Given the description of an element on the screen output the (x, y) to click on. 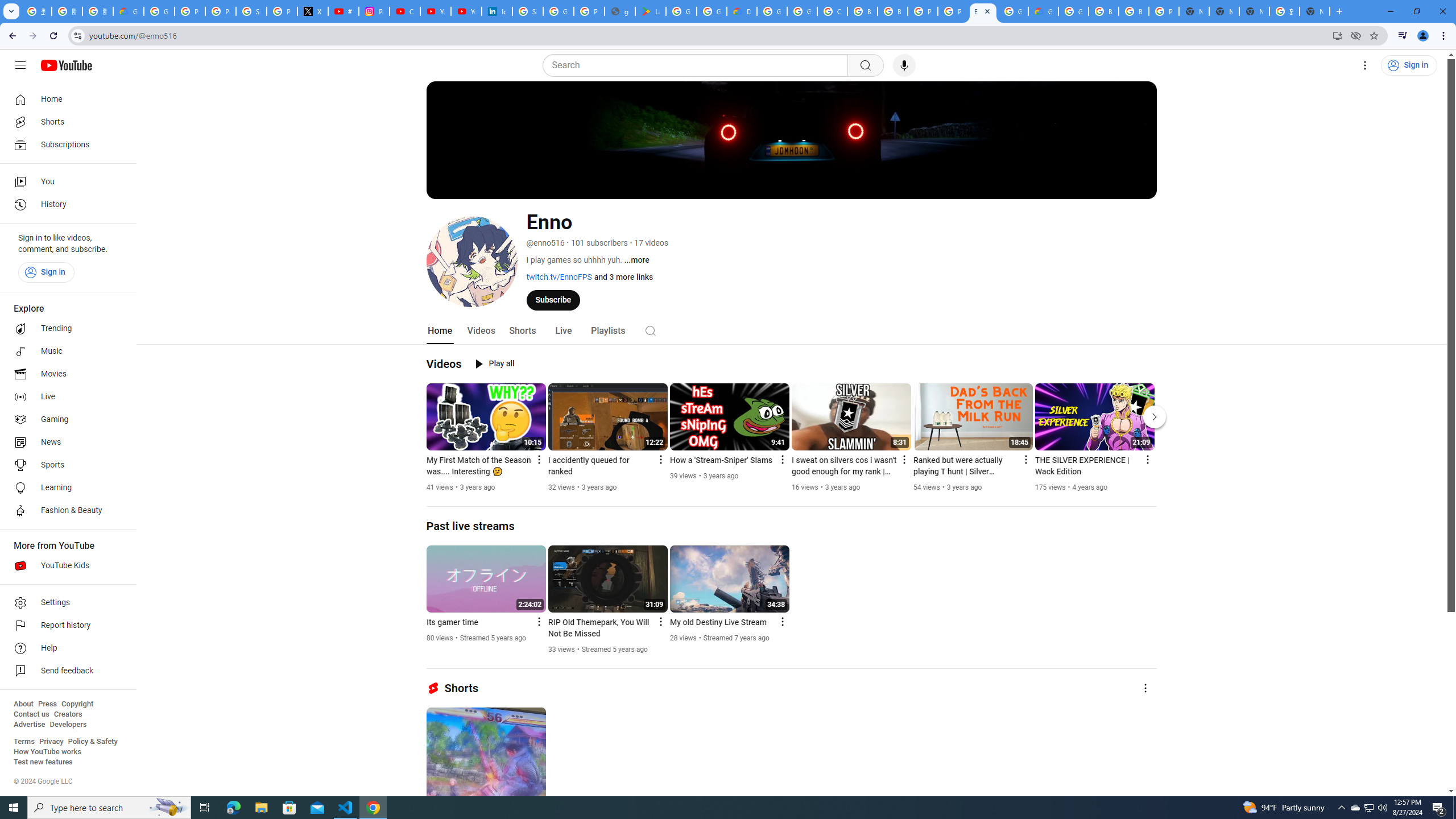
Past live streams (470, 525)
Report history (64, 625)
Sign in - Google Accounts (251, 11)
Next (1154, 416)
Google Cloud Platform (771, 11)
Home (64, 99)
YouTube Kids (64, 565)
